Given the description of an element on the screen output the (x, y) to click on. 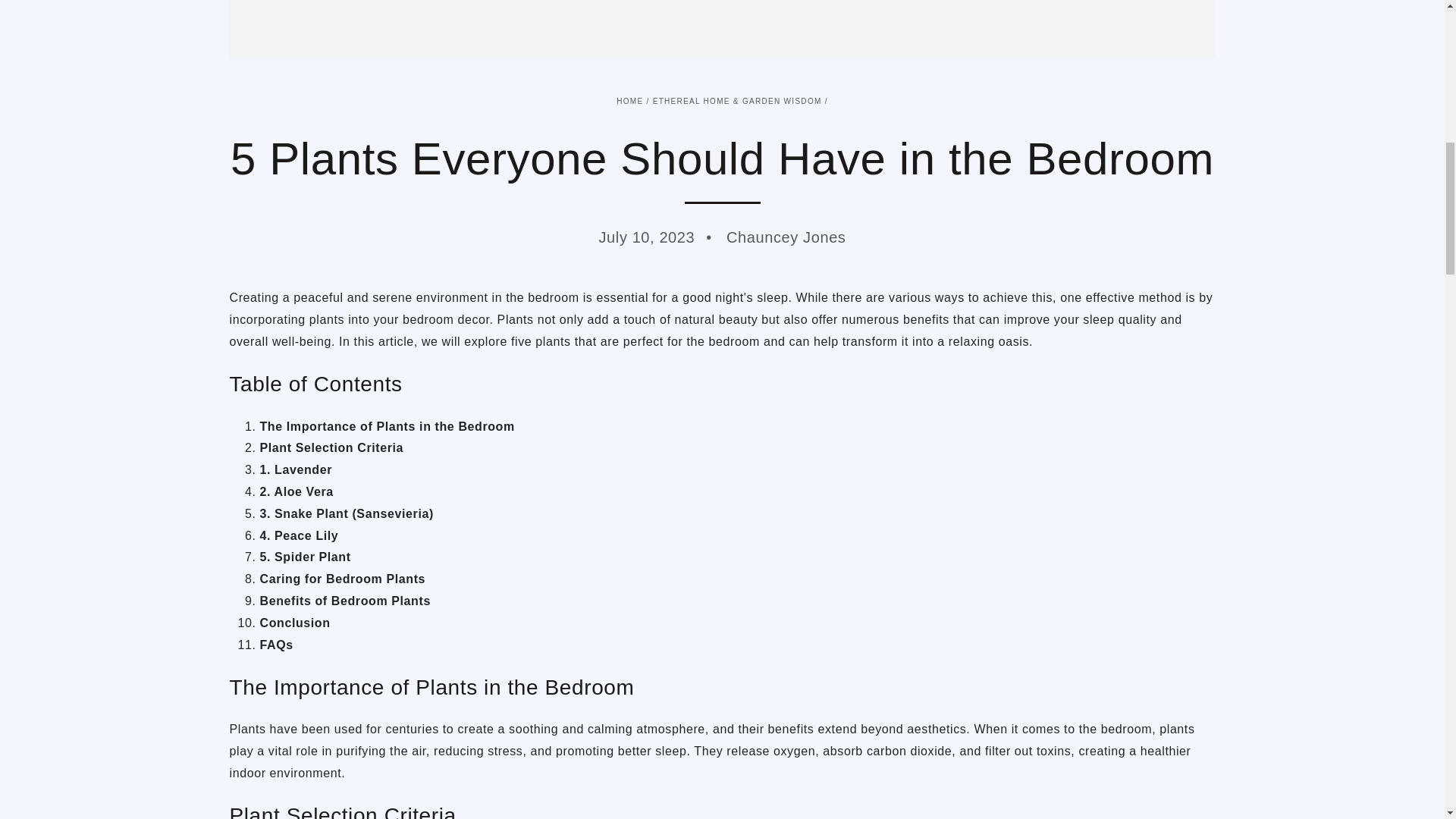
Back to the frontpage (629, 101)
